Given the description of an element on the screen output the (x, y) to click on. 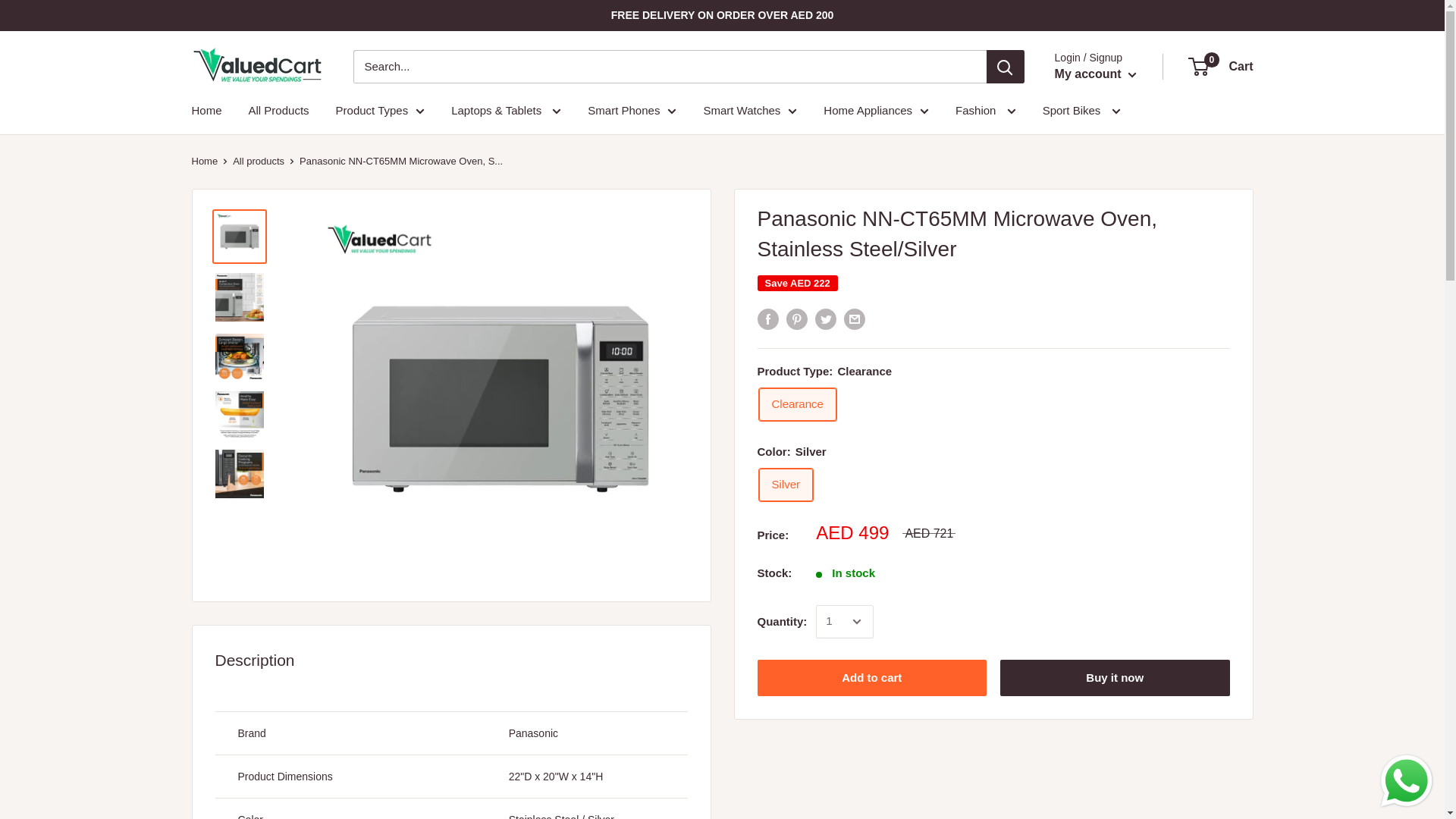
Silver (785, 484)
Clearance (796, 404)
